Given the description of an element on the screen output the (x, y) to click on. 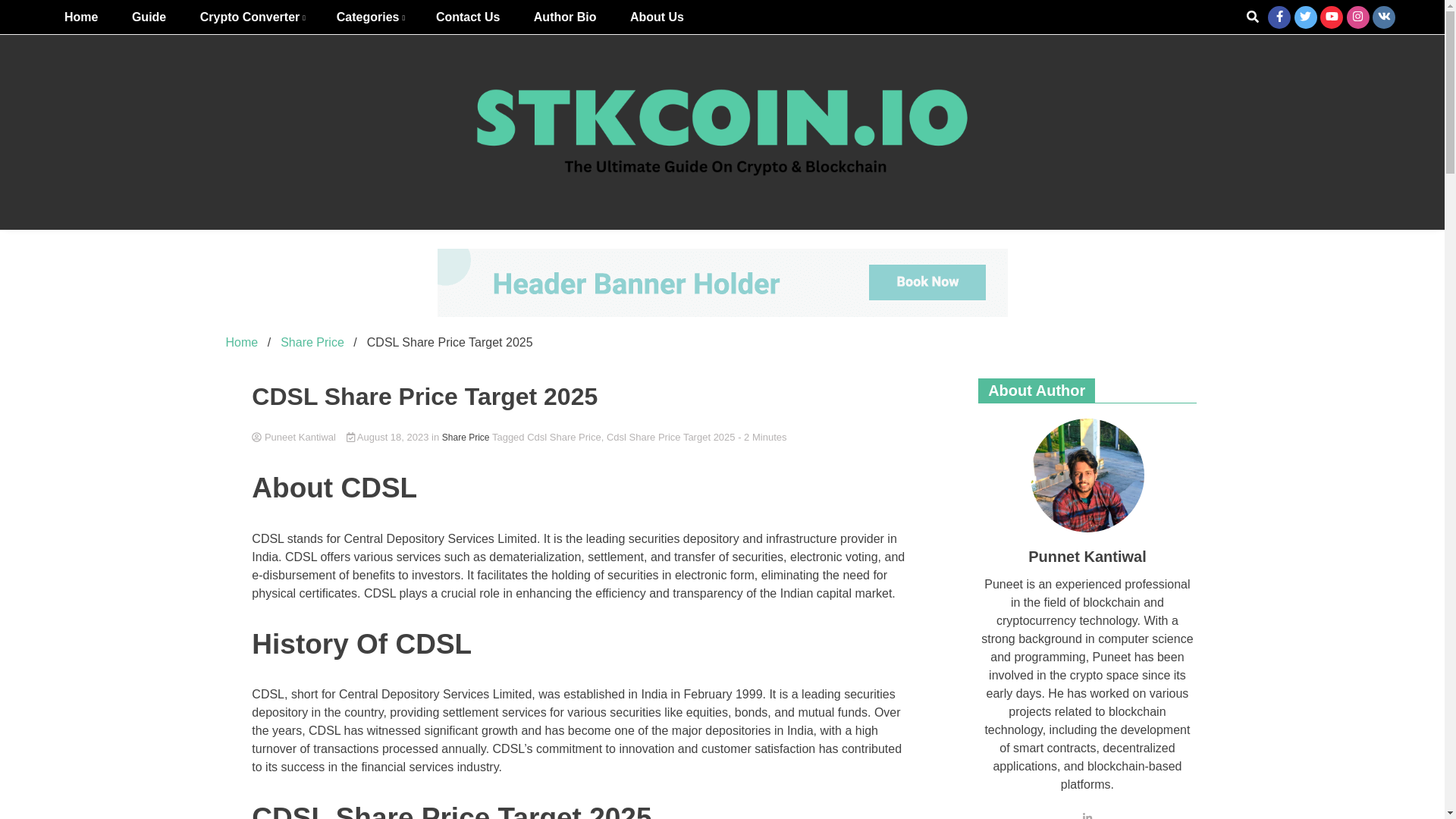
Punnet Kantiwal  (1087, 475)
Categories (369, 17)
Home (81, 17)
Author Bio (564, 17)
Share Price (312, 341)
Puneet Kantiwal (294, 437)
Contact Us (467, 17)
Home (242, 341)
About Us (656, 17)
Estimated Reading Time of Article (762, 437)
STKCOIN.IO (808, 265)
August 18, 2023 (389, 437)
Share Price (465, 437)
Cdsl Share Price (564, 437)
Cdsl Share Price Target 2025 (671, 437)
